Given the description of an element on the screen output the (x, y) to click on. 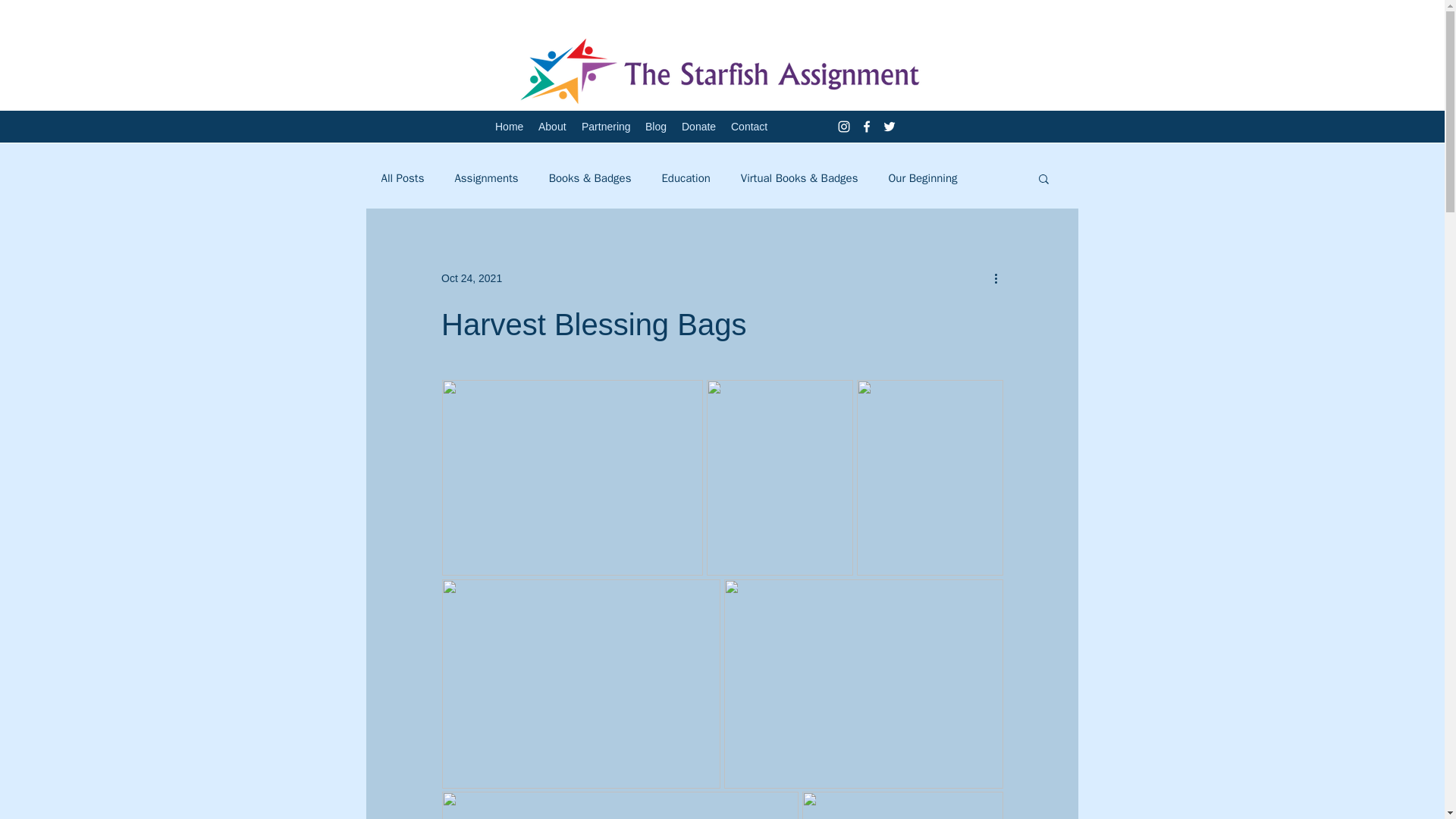
Education (685, 178)
Donate (698, 126)
Contact (748, 126)
Our Beginning (922, 178)
Home (509, 126)
About (552, 126)
Oct 24, 2021 (471, 277)
Partnering (605, 126)
All Posts (401, 178)
Assignments (486, 178)
